Given the description of an element on the screen output the (x, y) to click on. 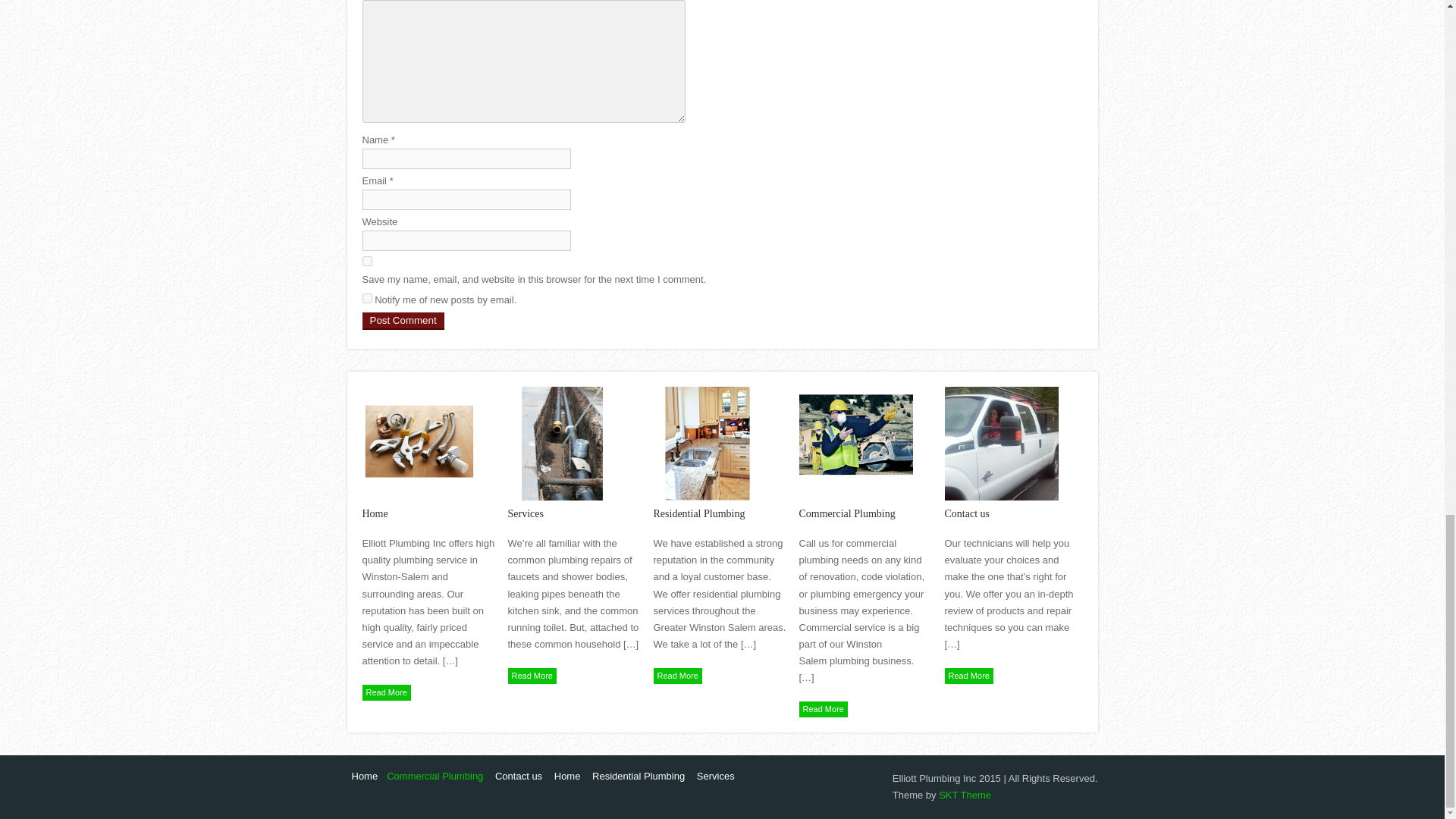
Home (567, 776)
Post Comment (403, 321)
Residential Plumbing (719, 505)
Read More (677, 675)
Contact us (518, 776)
Read More (968, 675)
Post Comment (403, 321)
Read More (823, 709)
Services (574, 505)
yes (367, 261)
